Given the description of an element on the screen output the (x, y) to click on. 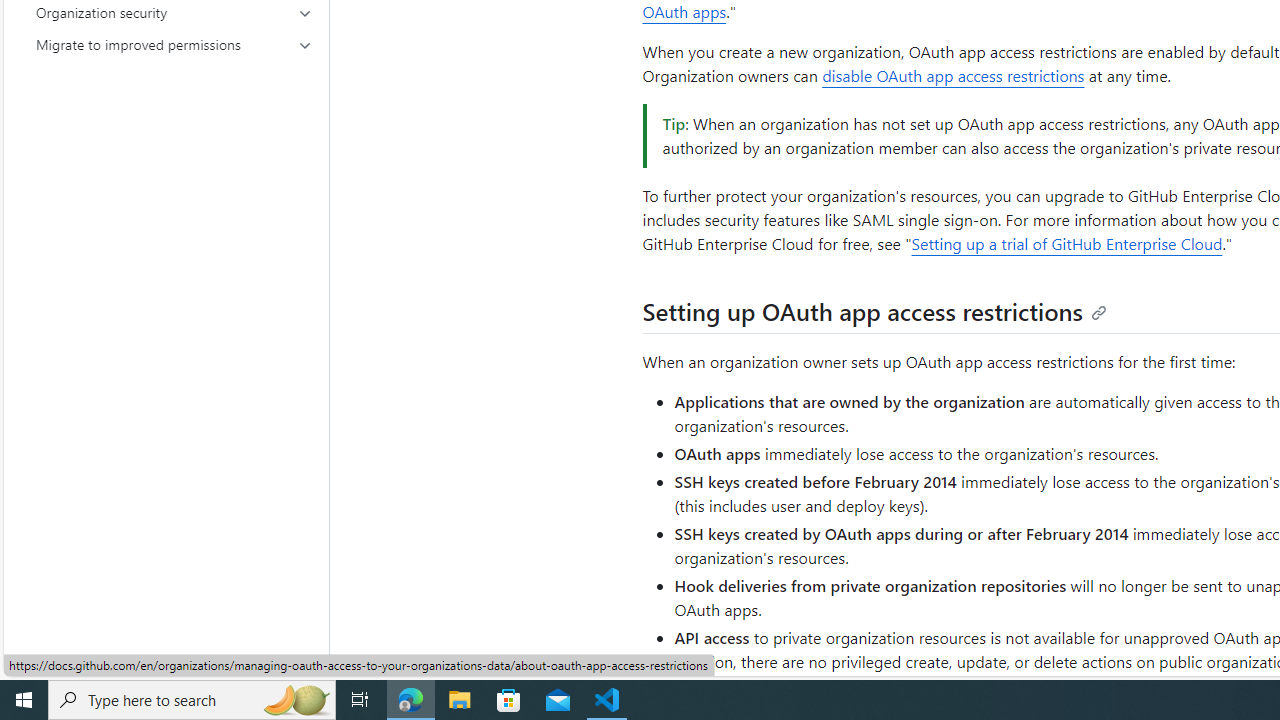
Migrate to improved permissions (174, 44)
Migrate to improved permissions (174, 44)
Setting up a trial of GitHub Enterprise Cloud (1066, 243)
disable OAuth app access restrictions (953, 75)
Setting up OAuth app access restrictions (874, 311)
